Given the description of an element on the screen output the (x, y) to click on. 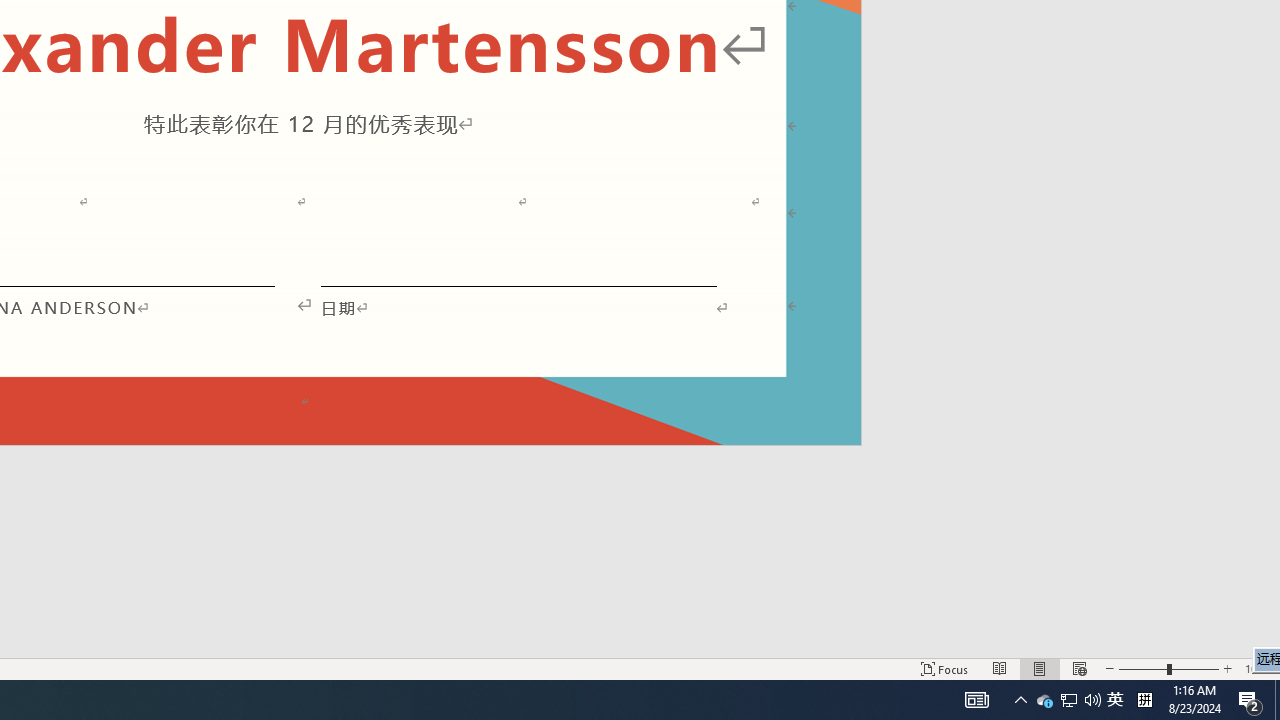
Notification Chevron (1020, 699)
Show desktop (1277, 699)
Zoom 100% (1258, 668)
AutomationID: 4105 (1115, 699)
User Promoted Notification Area (1044, 699)
